Given the description of an element on the screen output the (x, y) to click on. 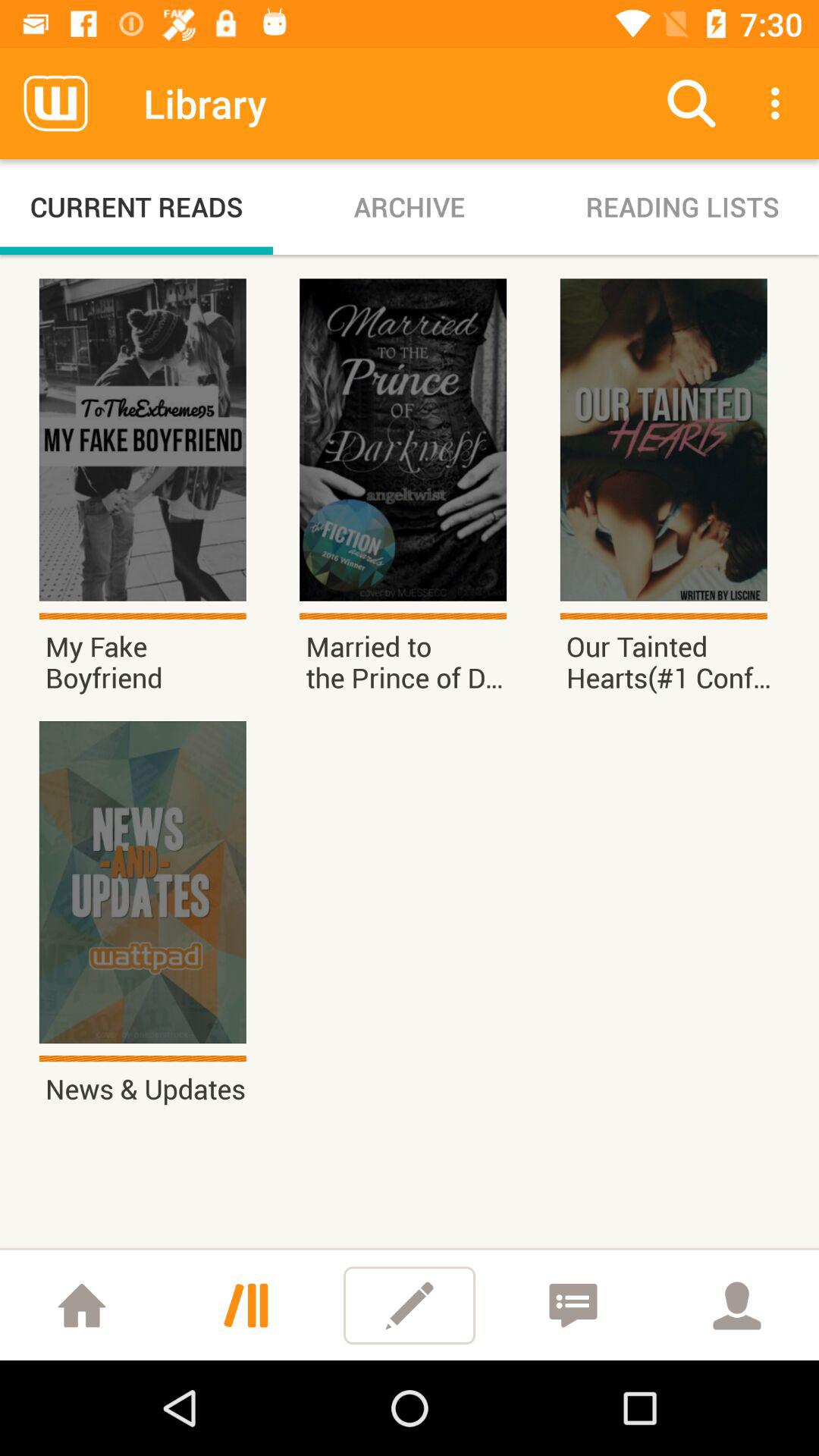
press item above the current reads item (55, 103)
